Given the description of an element on the screen output the (x, y) to click on. 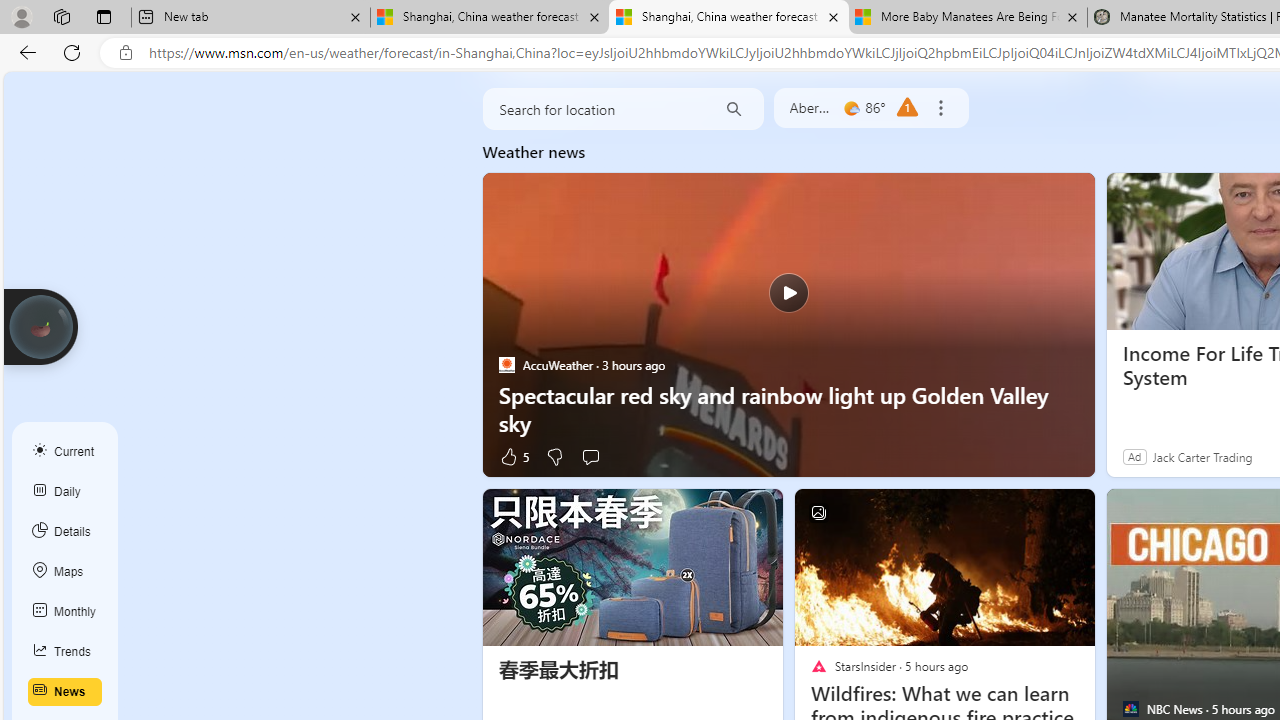
Details (65, 531)
Search for location (594, 108)
StarsInsider (818, 665)
Remove location (940, 107)
